Given the description of an element on the screen output the (x, y) to click on. 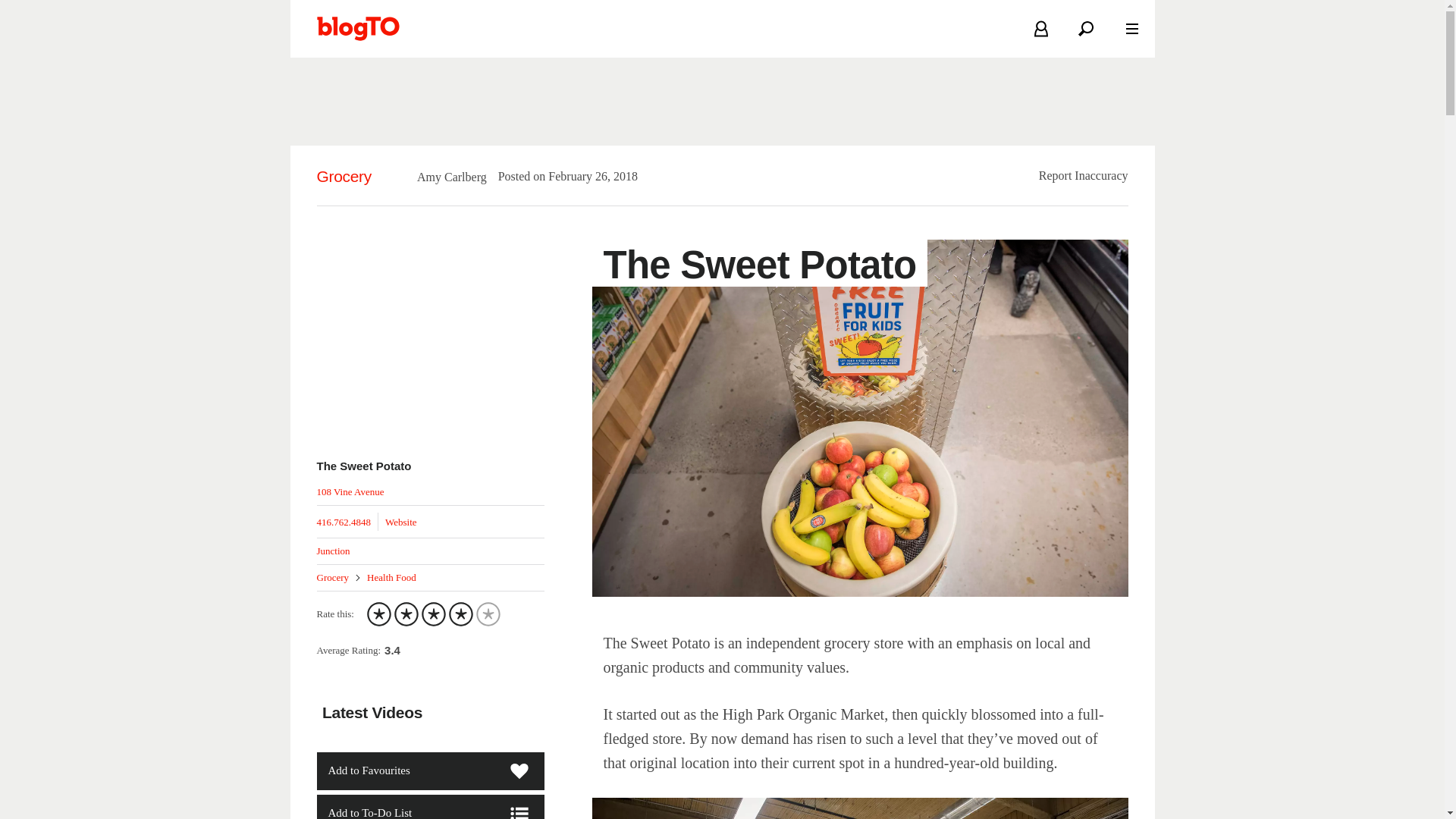
2018-02-26T09:58:52 (584, 175)
